Given the description of an element on the screen output the (x, y) to click on. 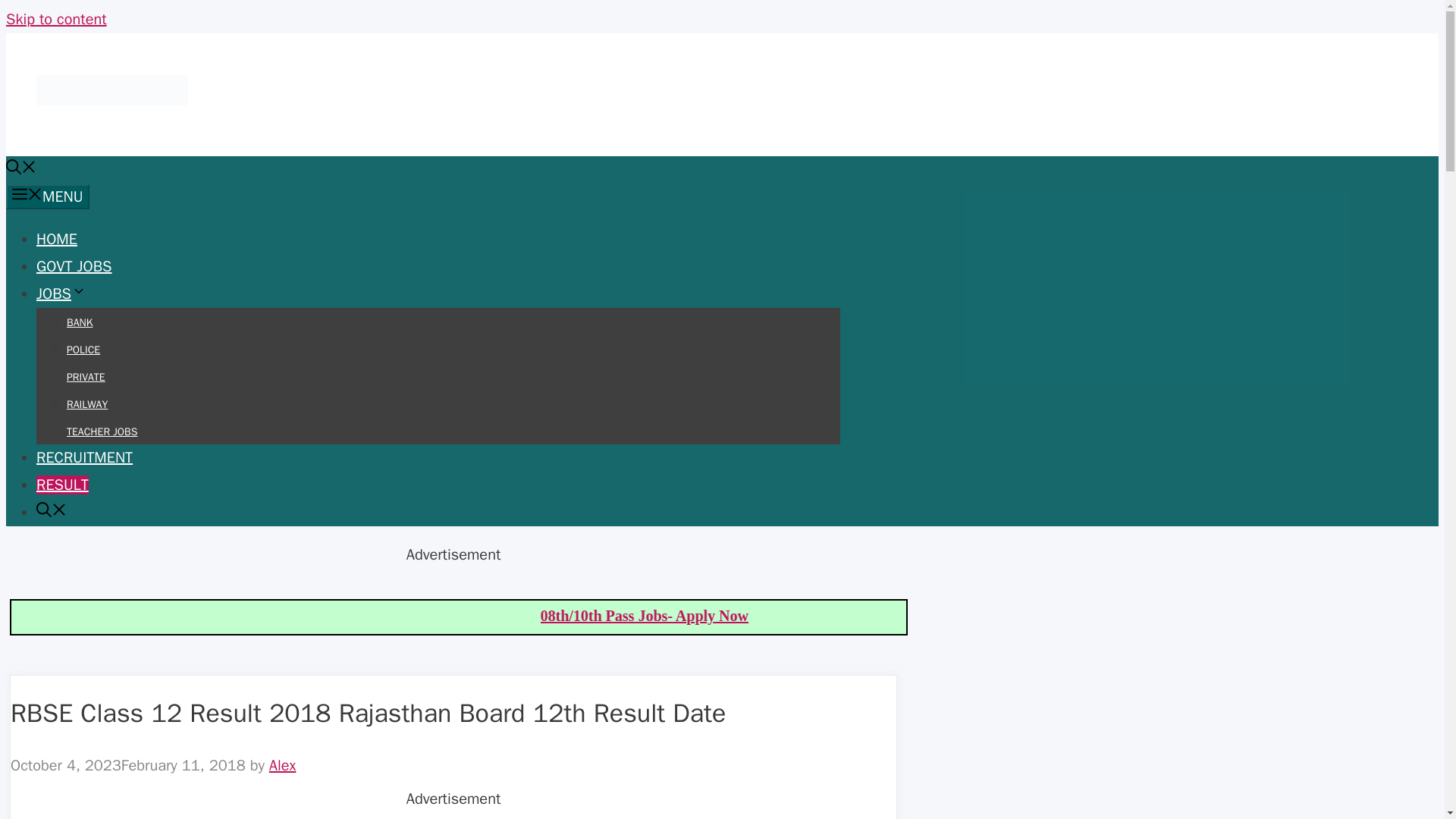
MENU (46, 196)
HOME (56, 239)
POLICE (83, 349)
RECRUITMENT (84, 456)
Alex (283, 764)
Skip to content (55, 18)
JOBS (60, 293)
View all posts by Alex (283, 764)
RAILWAY (86, 404)
GOVT JOBS (74, 266)
RESULT (62, 484)
Skip to content (55, 18)
TEACHER JOBS (101, 431)
PRIVATE (85, 377)
BANK (79, 322)
